Given the description of an element on the screen output the (x, y) to click on. 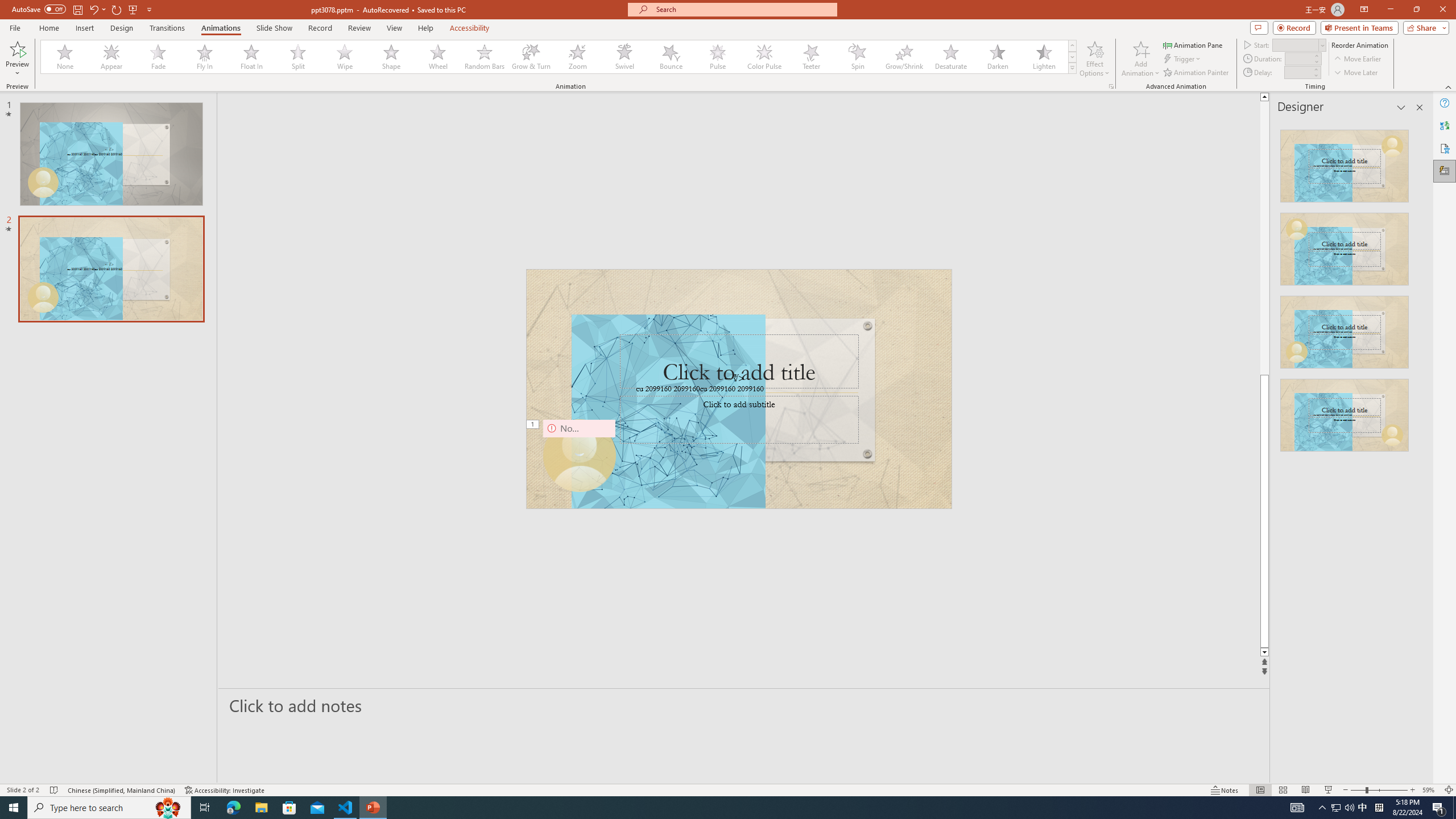
Color Pulse (764, 56)
Pulse (717, 56)
Teeter (810, 56)
